Given the description of an element on the screen output the (x, y) to click on. 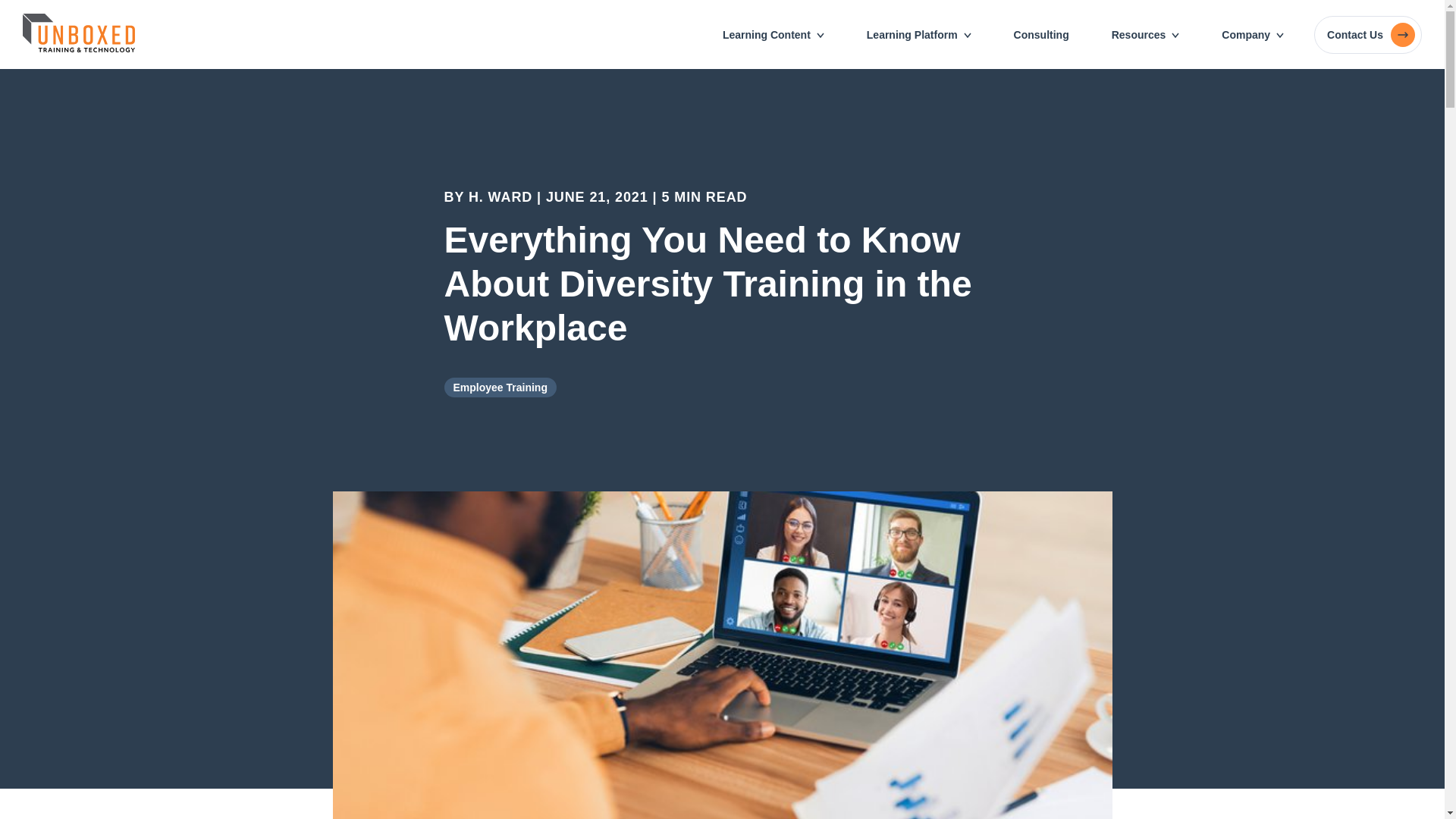
Consulting (1041, 34)
Learning Platform (919, 34)
Learning Content (772, 34)
Resources (1145, 34)
Company (1252, 34)
Employee Training (500, 387)
Contact Us (1368, 34)
